Given the description of an element on the screen output the (x, y) to click on. 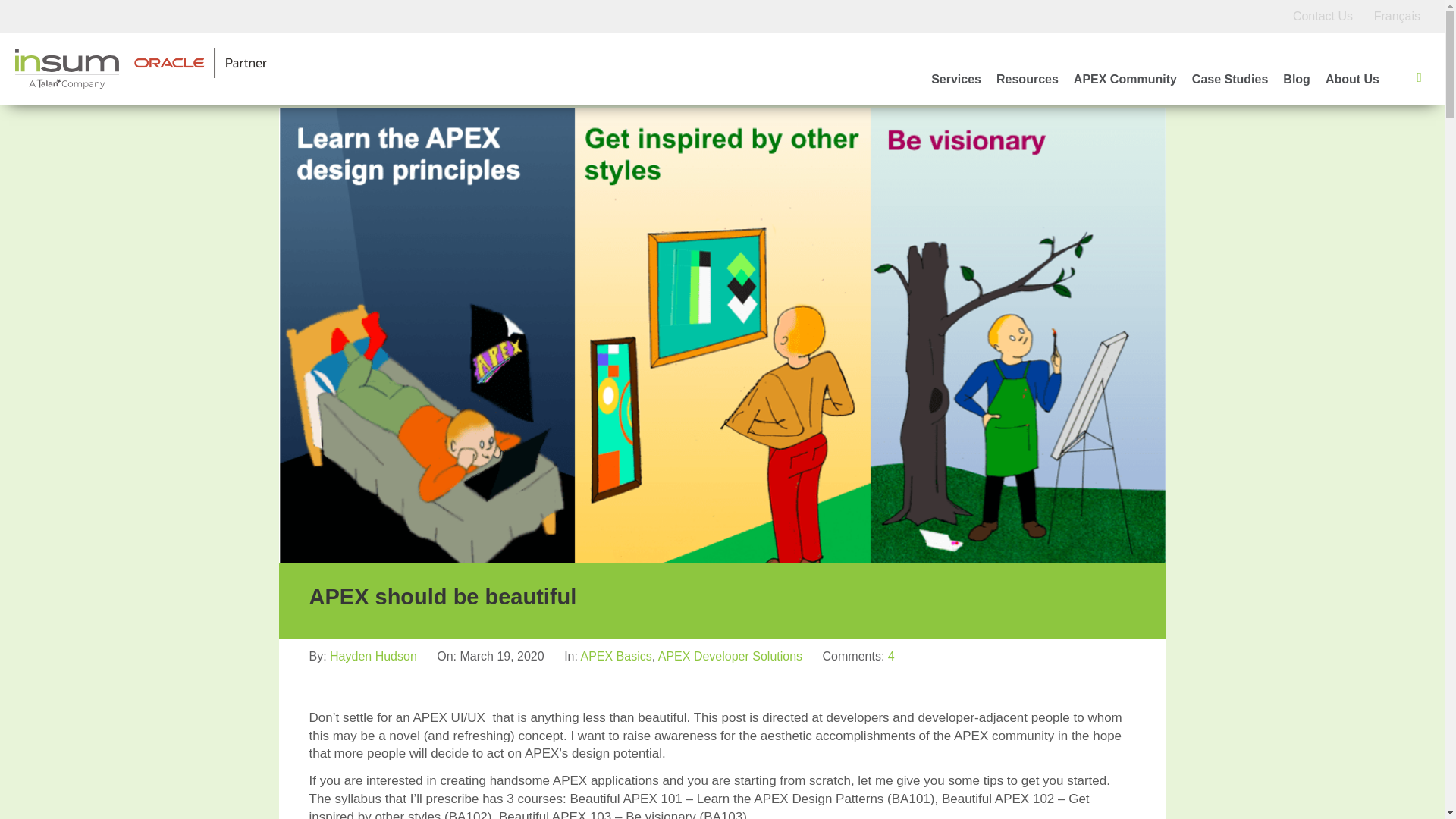
APEX Community (1125, 80)
Services (956, 80)
View comments (891, 656)
Contact Us (1322, 15)
About Us (1351, 80)
Blog (1296, 80)
Case Studies (1230, 80)
Resources (1026, 80)
